Given the description of an element on the screen output the (x, y) to click on. 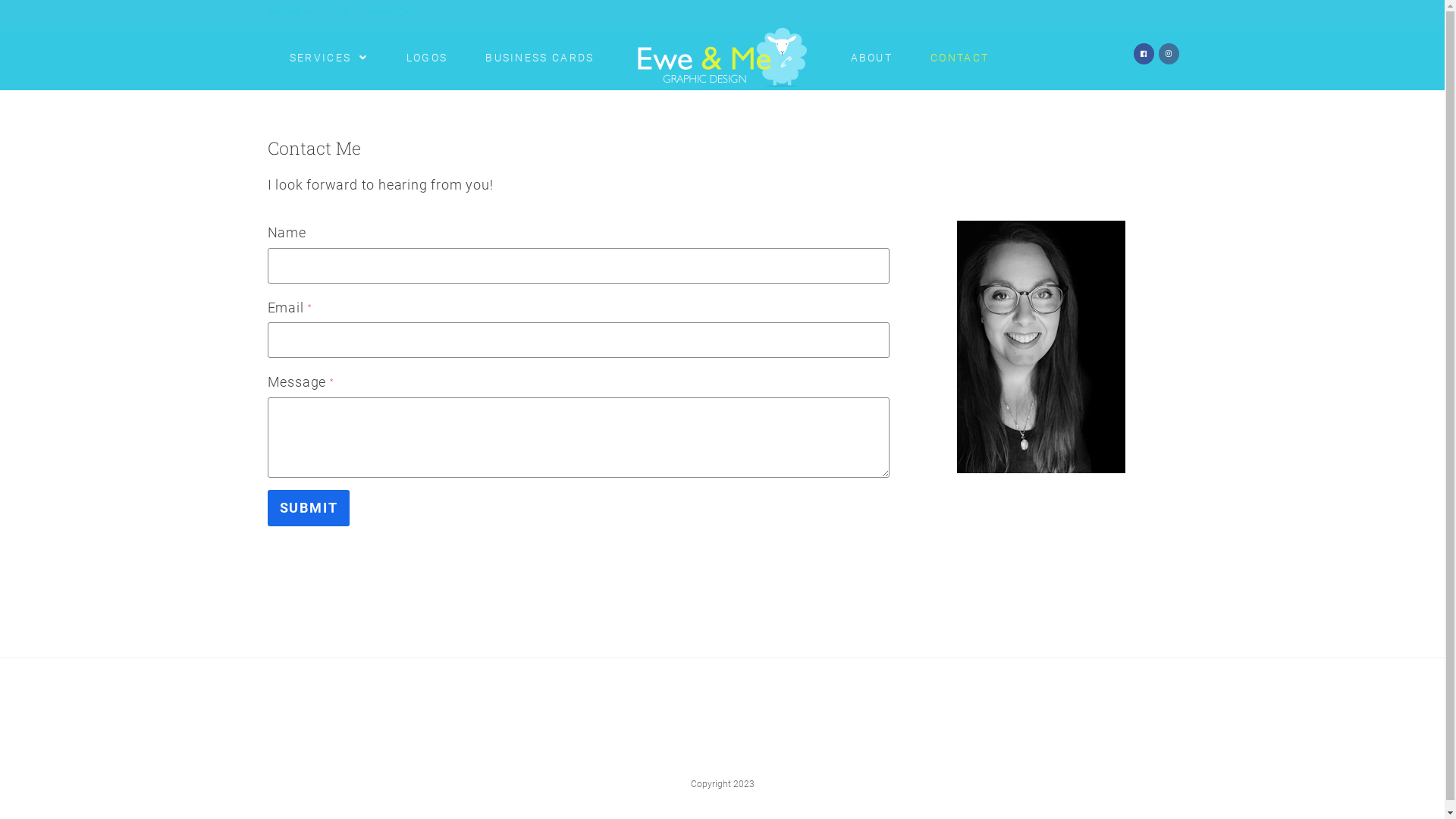
Logos Element type: text (335, 12)
CONTACT Element type: text (959, 57)
SERVICES Element type: text (328, 57)
Services Element type: text (288, 12)
SUBMIT Element type: text (307, 507)
BUSINESS CARDS Element type: text (539, 57)
ABOUT Element type: text (871, 57)
LOGOS Element type: text (427, 57)
Business Cards Element type: text (390, 12)
